Given the description of an element on the screen output the (x, y) to click on. 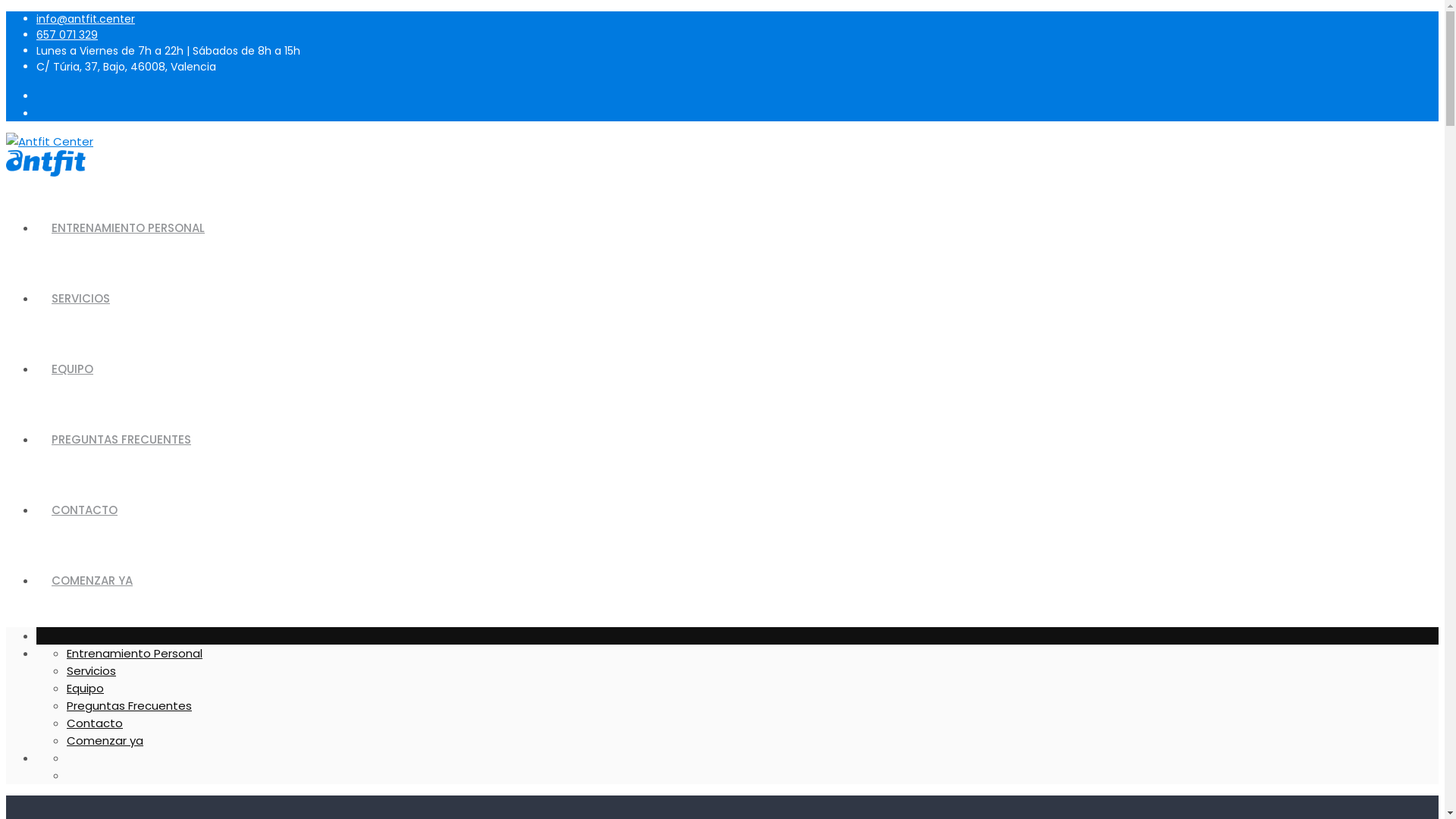
Servicios Element type: text (91, 670)
Comenzar ya Element type: text (104, 740)
SERVICIOS Element type: text (80, 298)
PREGUNTAS FRECUENTES Element type: text (121, 439)
COMENZAR YA Element type: text (91, 580)
Preguntas Frecuentes Element type: text (128, 705)
info@antfit.center Element type: text (85, 18)
ENTRENAMIENTO PERSONAL Element type: text (127, 227)
Entrenamiento Personal Element type: text (134, 653)
EQUIPO Element type: text (72, 368)
Contacto Element type: text (94, 723)
Equipo Element type: text (84, 688)
657 071 329 Element type: text (66, 34)
CONTACTO Element type: text (84, 509)
